Given the description of an element on the screen output the (x, y) to click on. 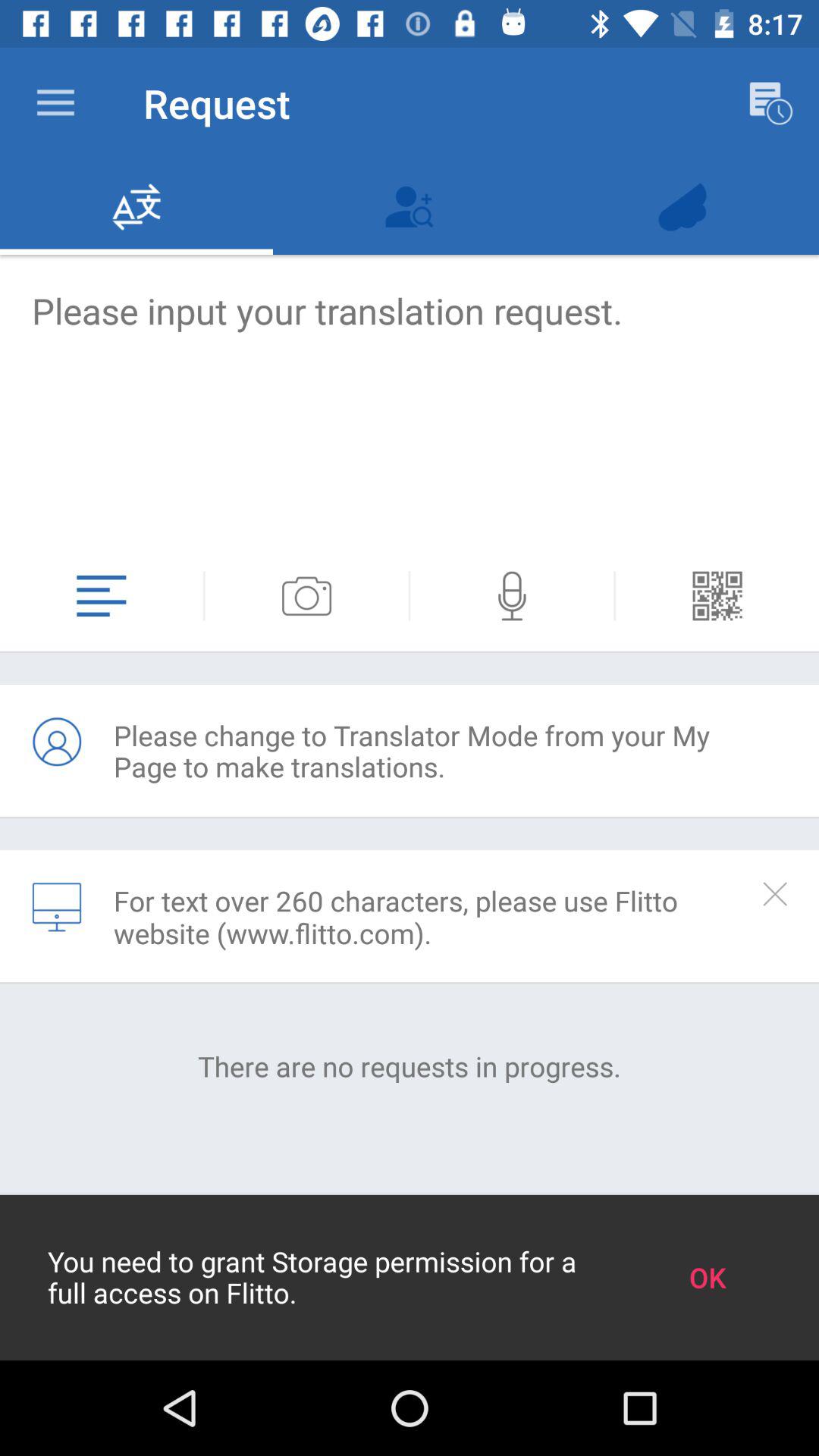
click camera image (306, 596)
